Given the description of an element on the screen output the (x, y) to click on. 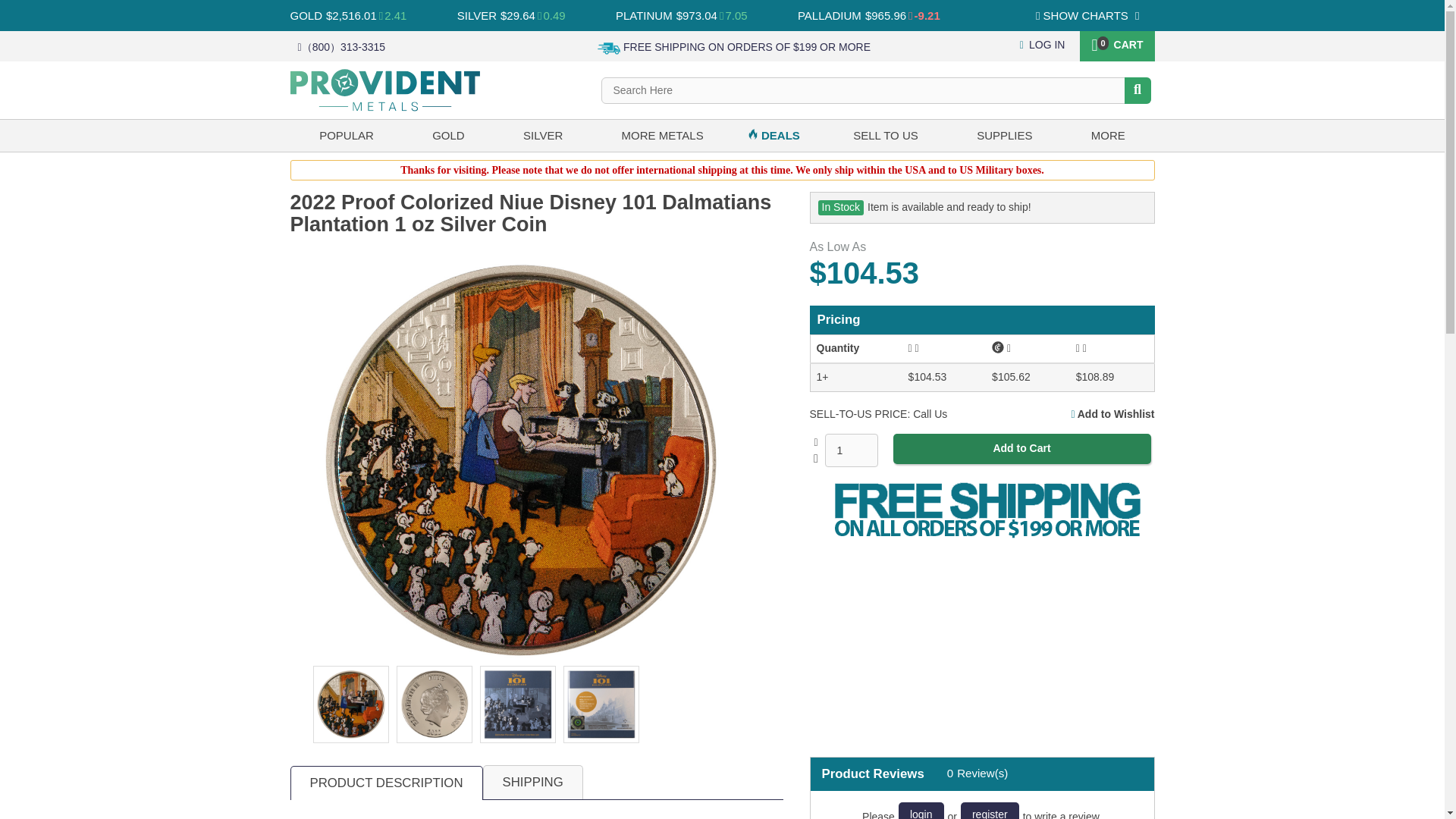
0CART (1116, 43)
SILVER (476, 15)
POPULAR (346, 134)
PLATINUM (643, 15)
Qty (851, 450)
1 (851, 450)
PALLADIUM (829, 15)
GOLD (305, 15)
LOG IN (1043, 44)
